Given the description of an element on the screen output the (x, y) to click on. 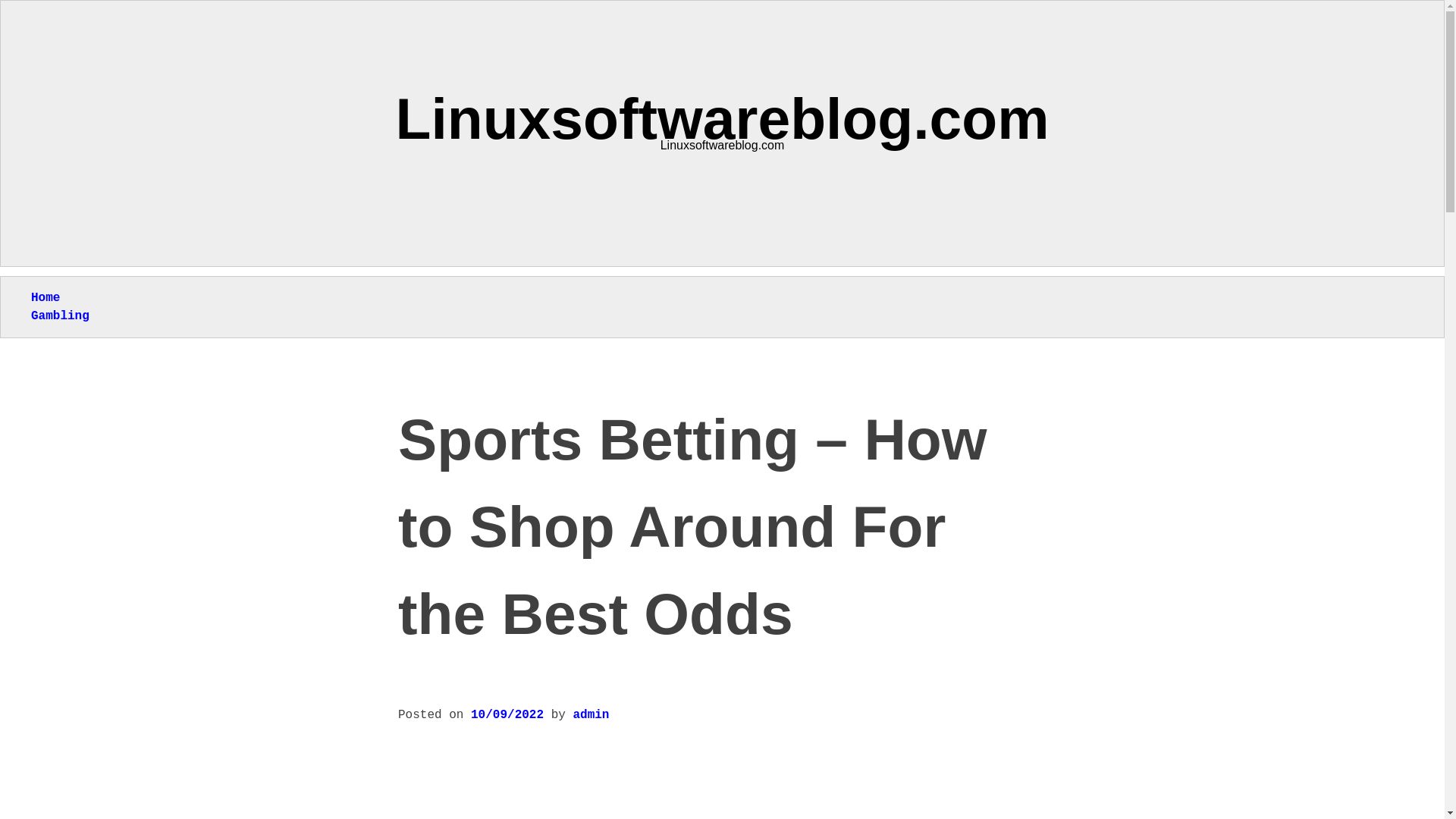
admin (590, 714)
Linuxsoftwareblog.com (722, 118)
Home (44, 297)
Gambling (59, 315)
